Given the description of an element on the screen output the (x, y) to click on. 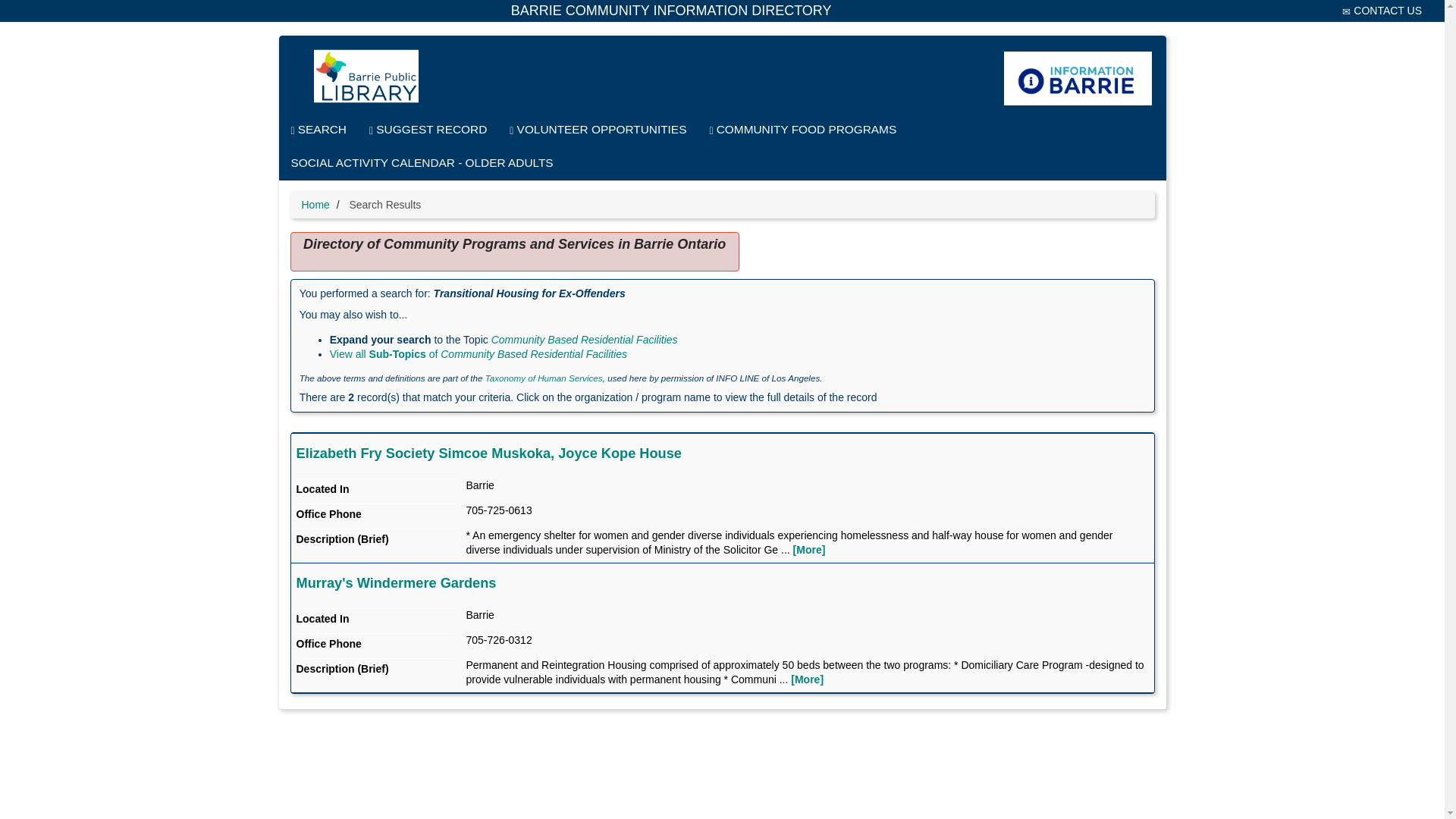
Murray's Windermere Gardens (395, 582)
Elizabeth Fry Society Simcoe Muskoka, Joyce Kope House (488, 453)
Taxonomy of Human Services (543, 378)
SOCIAL ACTIVITY CALENDAR - OLDER ADULTS (421, 162)
VOLUNTEER OPPORTUNITIES (597, 129)
Home (315, 204)
Community Based Residential Facilities (585, 339)
SEARCH (317, 129)
SUGGEST RECORD (427, 129)
